Given the description of an element on the screen output the (x, y) to click on. 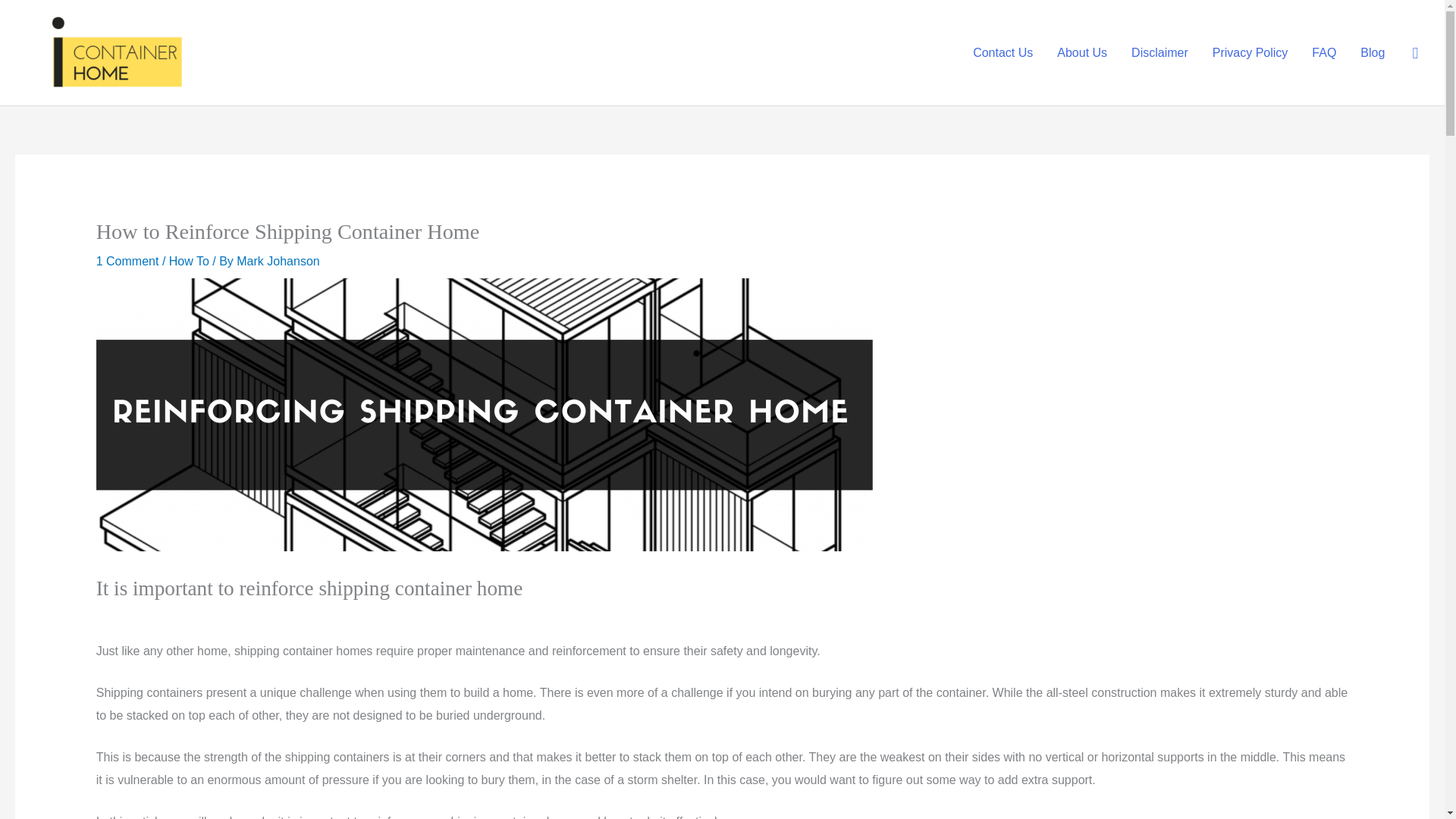
FAQ (1324, 51)
1 Comment (127, 260)
Disclaimer (1159, 51)
How To (188, 260)
About Us (1082, 51)
Privacy Policy (1249, 51)
Mark Johanson (276, 260)
Blog (1372, 51)
Contact Us (1002, 51)
View all posts by Mark Johanson (276, 260)
